Given the description of an element on the screen output the (x, y) to click on. 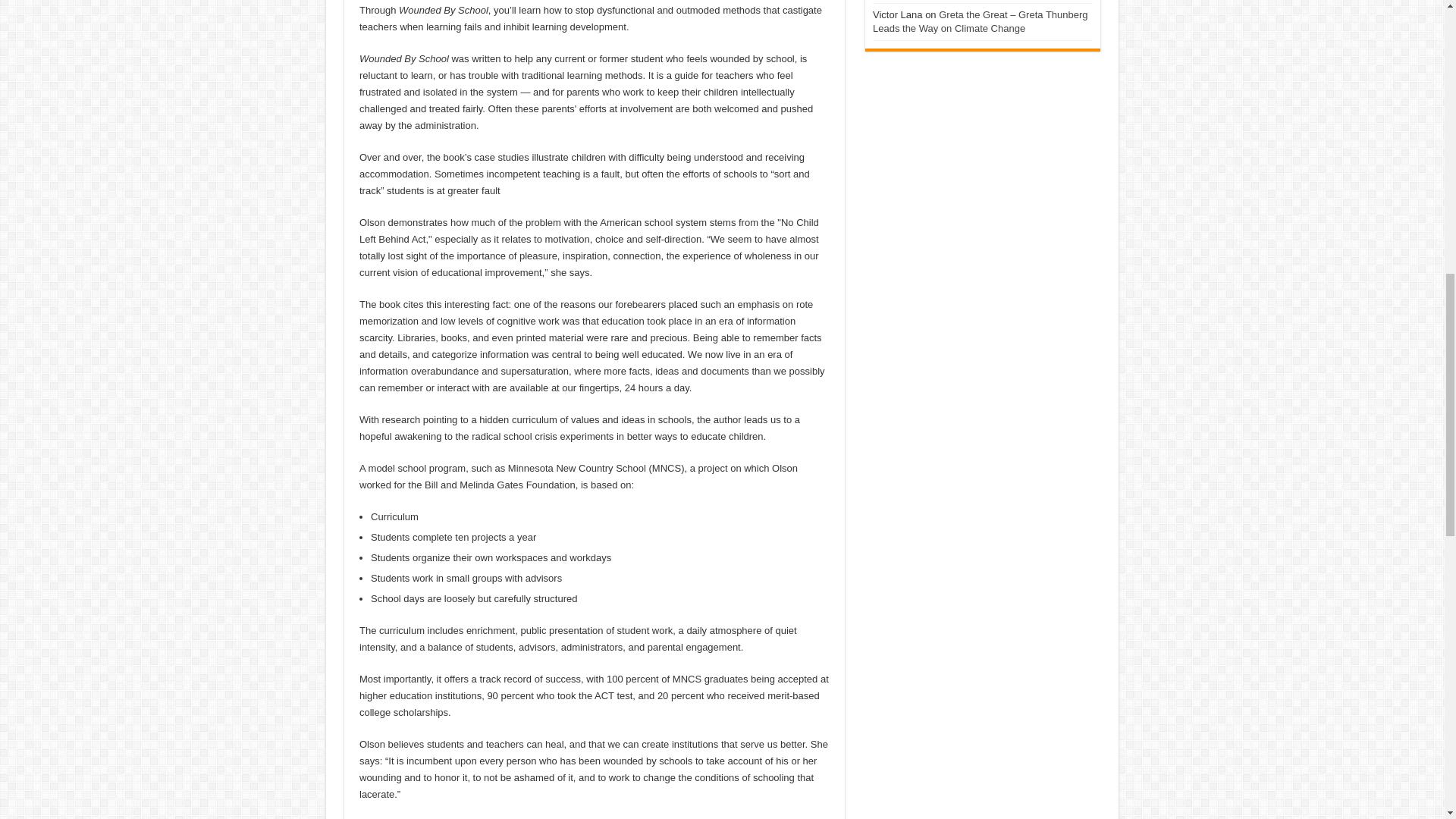
Scroll To Top (1421, 60)
